Given the description of an element on the screen output the (x, y) to click on. 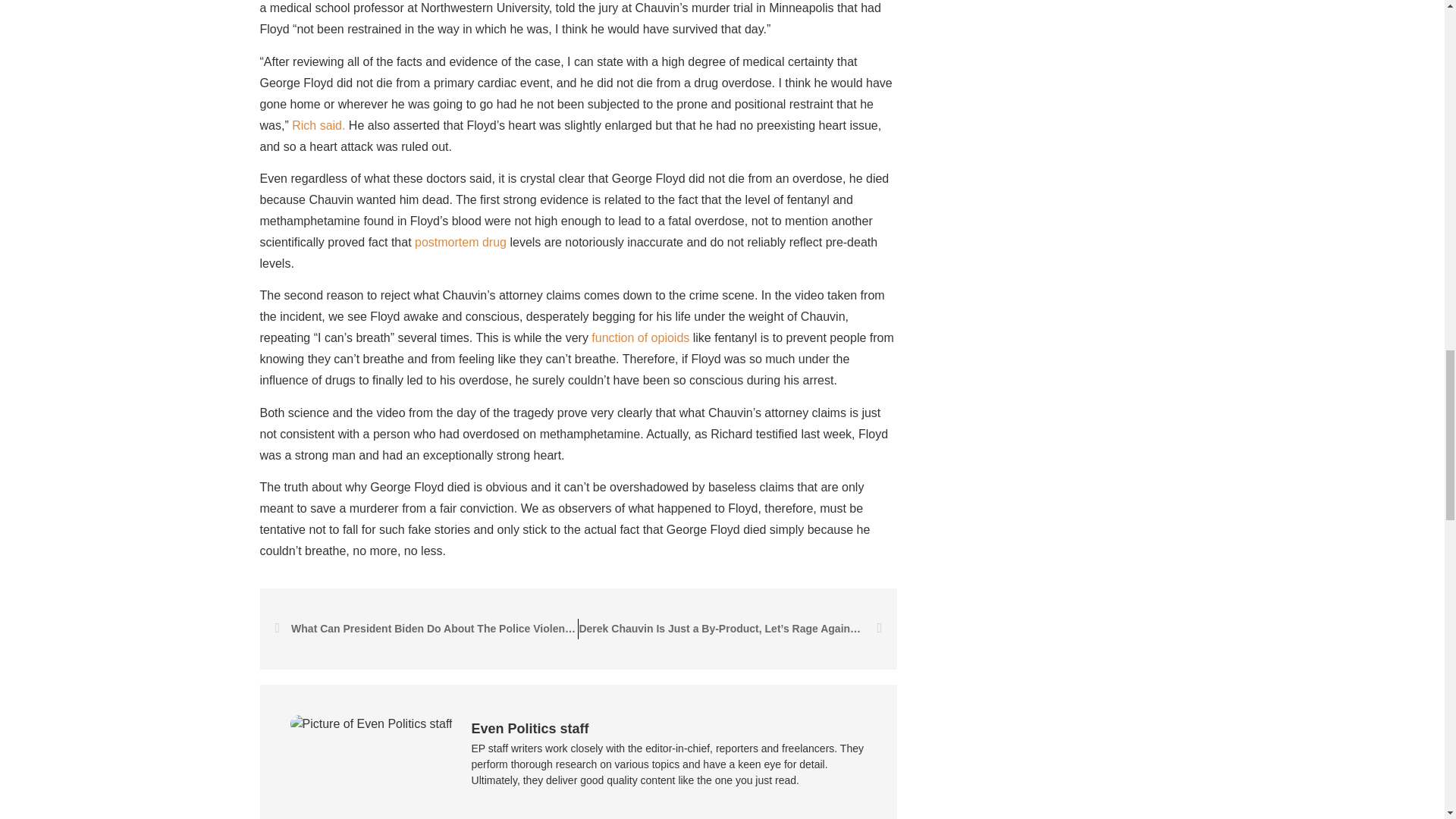
postmortem drug (460, 241)
Rich said. (318, 124)
function of opioids (639, 337)
